Given the description of an element on the screen output the (x, y) to click on. 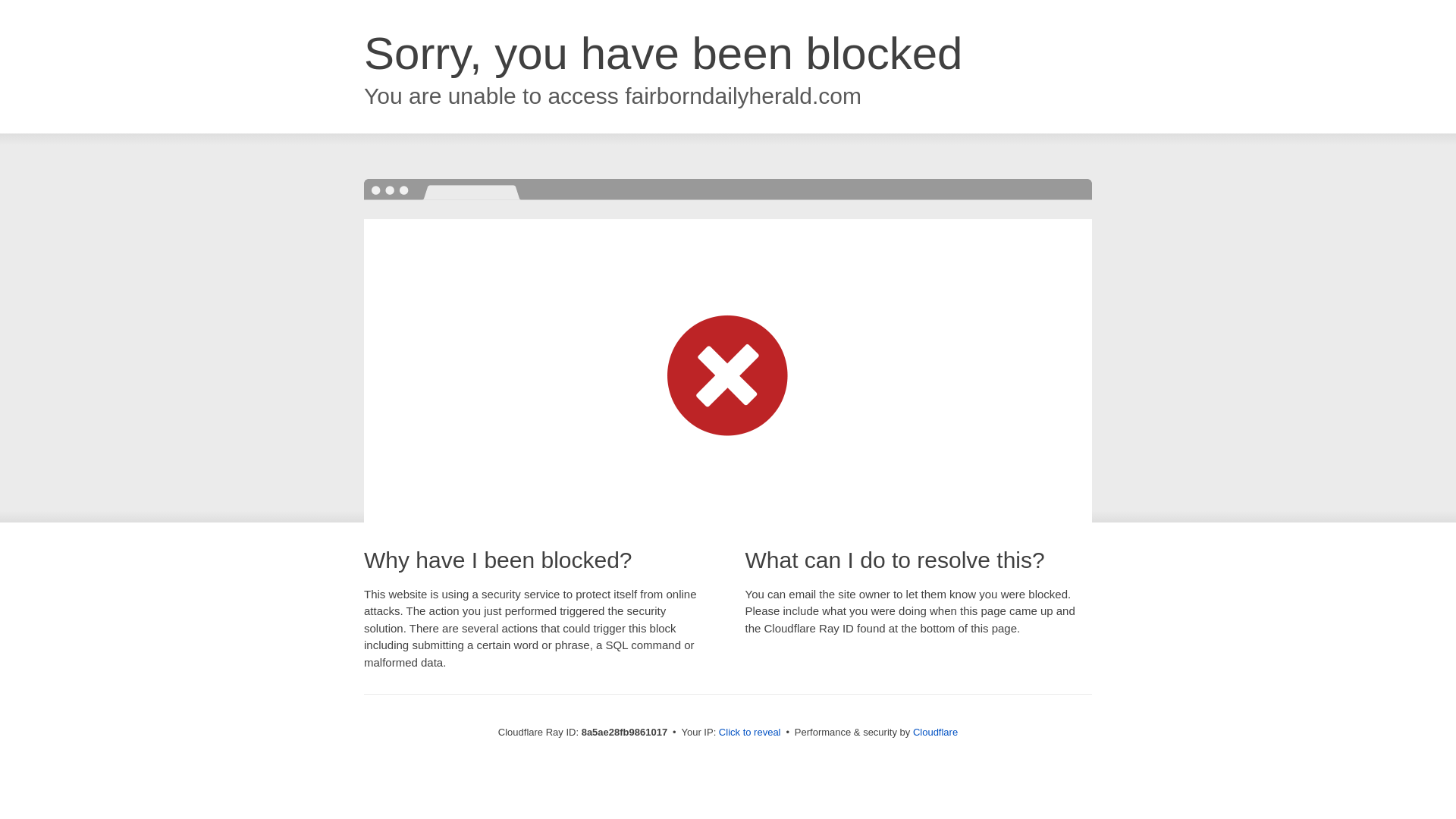
Click to reveal (749, 732)
Cloudflare (935, 731)
